Given the description of an element on the screen output the (x, y) to click on. 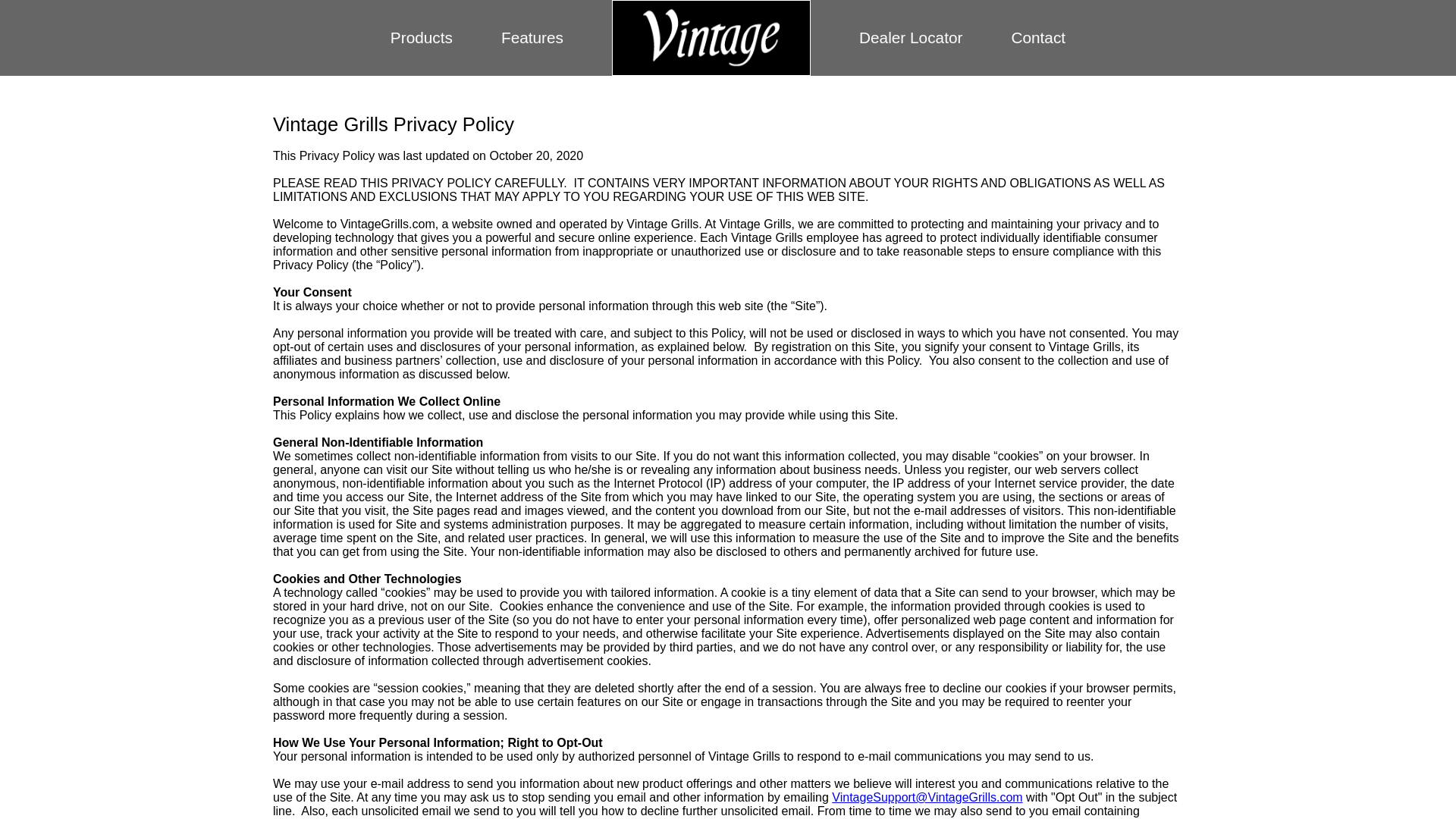
Products (421, 36)
Features (531, 36)
Contact (1037, 36)
Dealer Locator (910, 36)
